Given the description of an element on the screen output the (x, y) to click on. 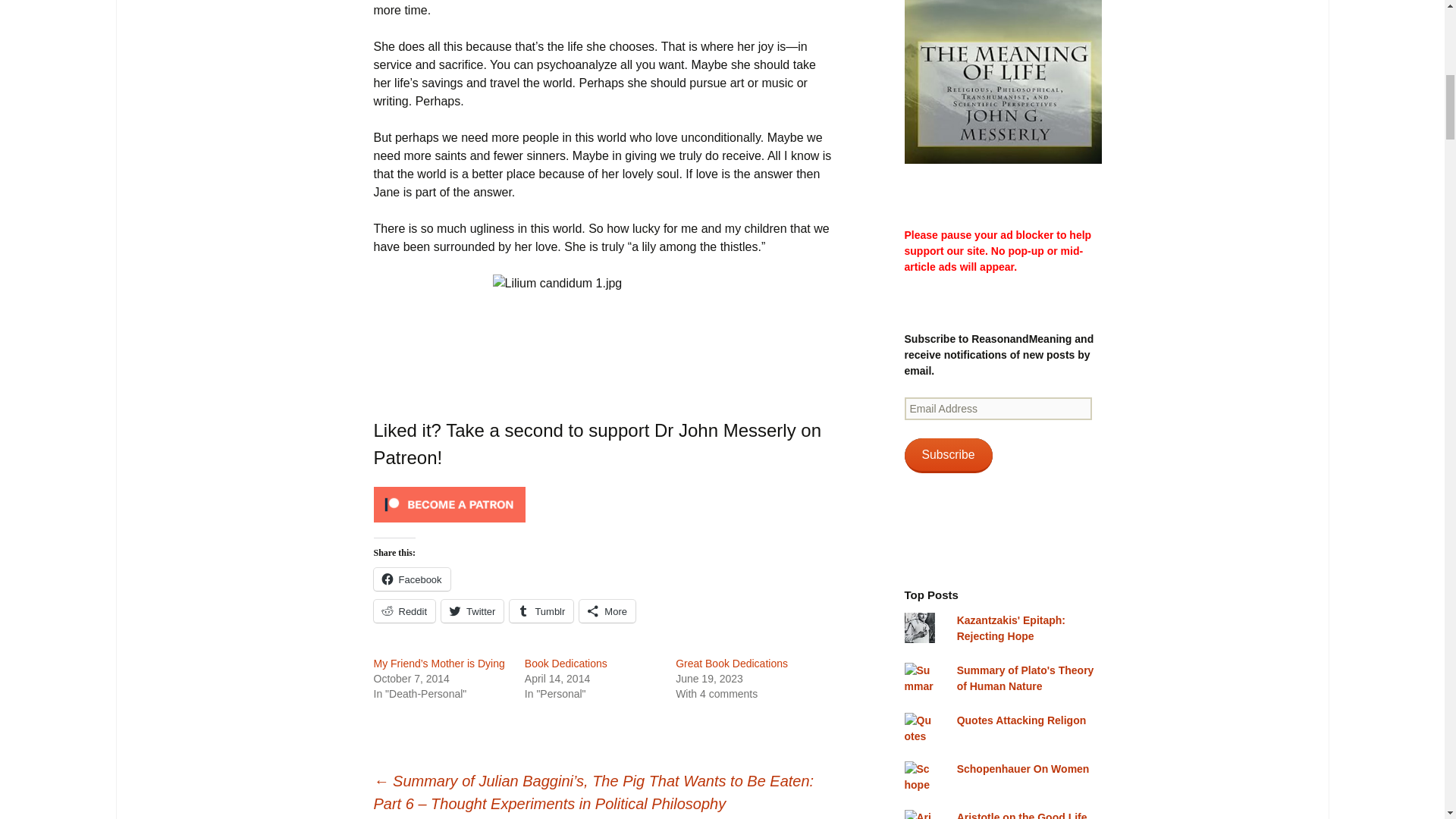
Click to share on Facebook (410, 579)
Click to share on Twitter (472, 610)
Click to share on Reddit (403, 610)
Click to share on Tumblr (541, 610)
